Given the description of an element on the screen output the (x, y) to click on. 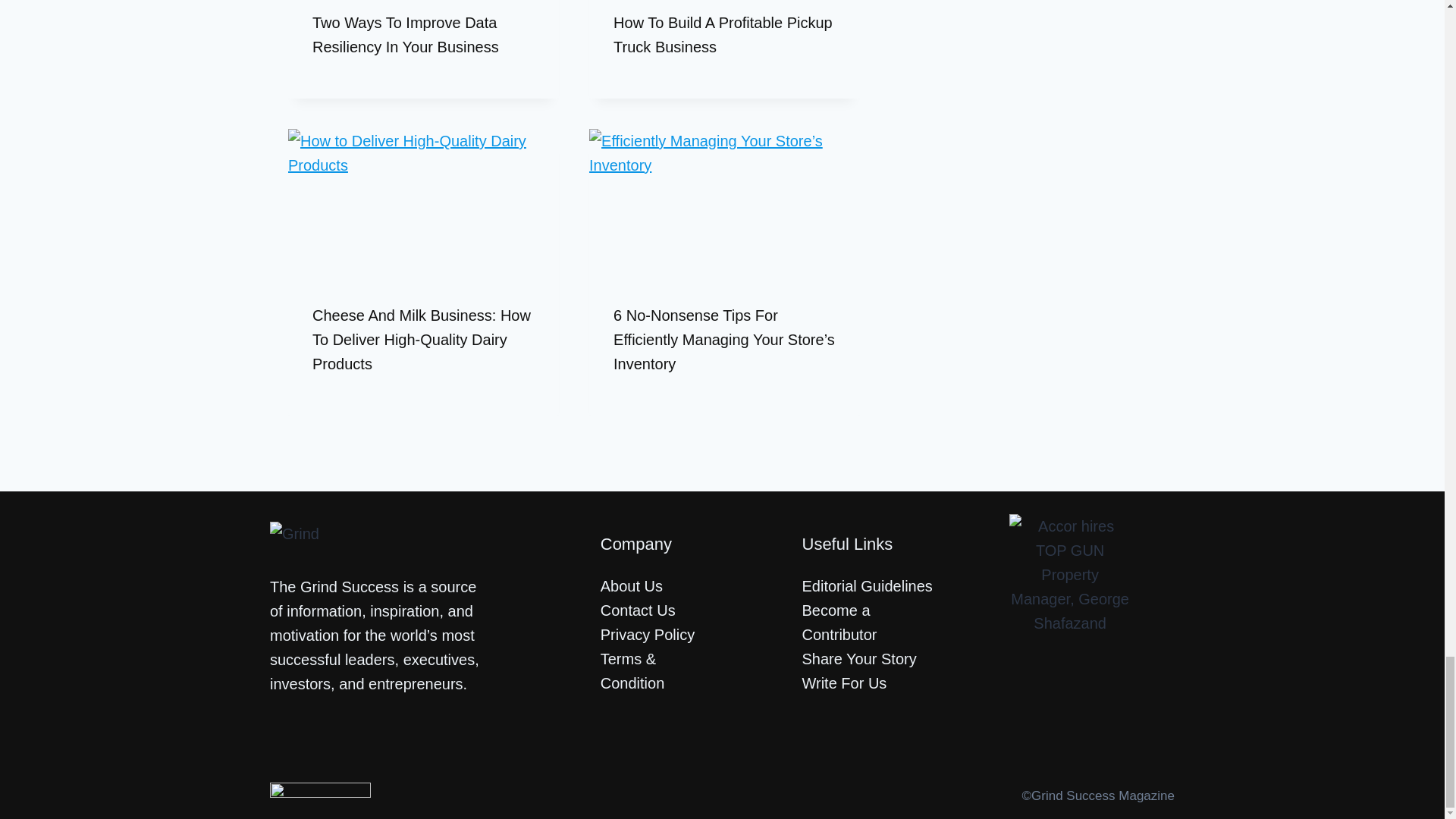
How To Build A Profitable Pickup Truck Business (722, 34)
Two Ways To Improve Data Resiliency In Your Business (406, 34)
